Given the description of an element on the screen output the (x, y) to click on. 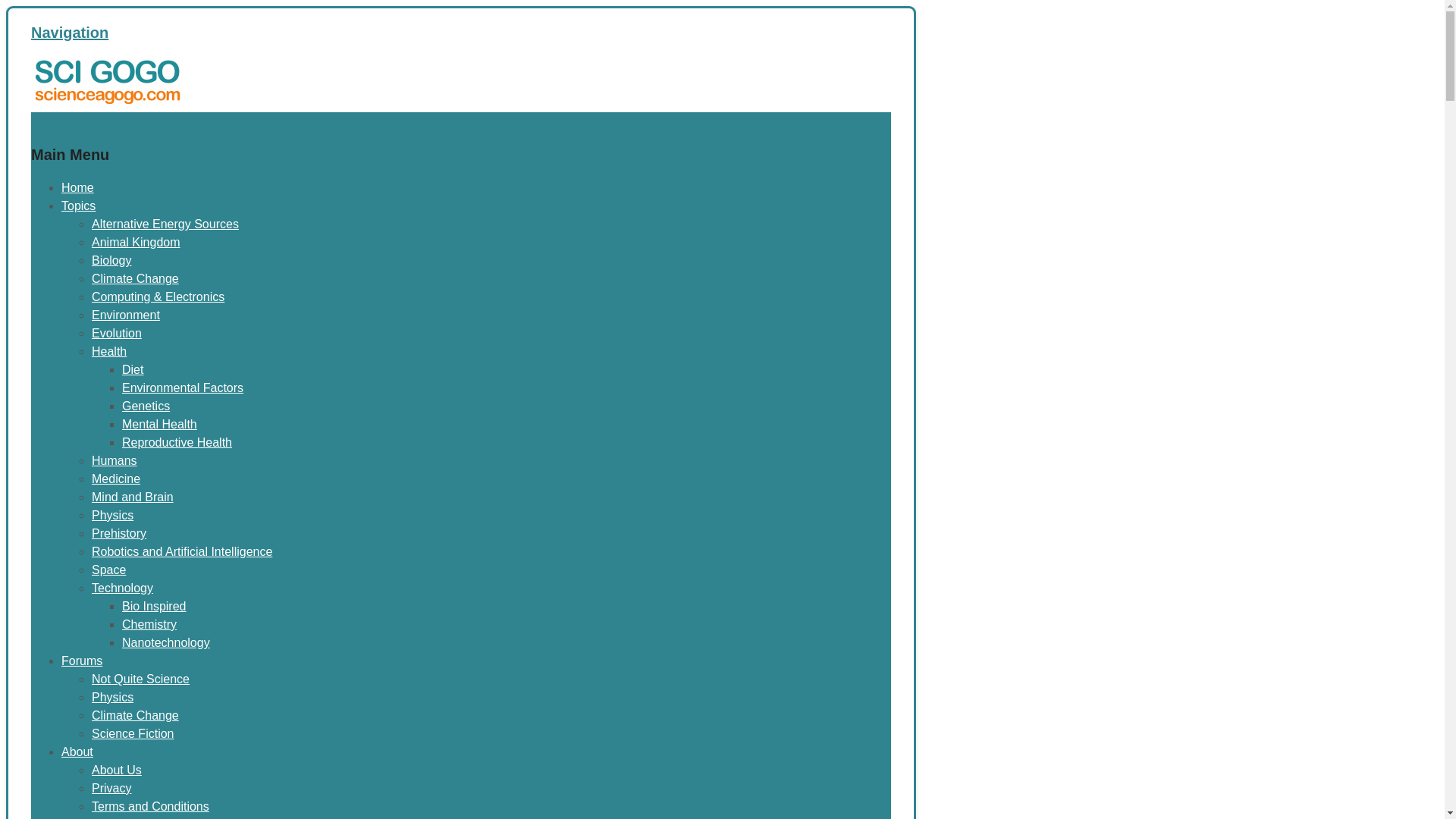
Diet (132, 369)
Interesting Science News and Discussion (106, 102)
Privacy (111, 788)
Medicine (115, 478)
Biology (111, 259)
Physics (112, 697)
Reproductive Health (176, 441)
Environment (125, 314)
Forums (81, 660)
Animal Kingdom (135, 241)
Humans (113, 460)
Mind and Brain (132, 496)
Alternative Energy Sources (164, 223)
About (77, 751)
Topics (78, 205)
